Given the description of an element on the screen output the (x, y) to click on. 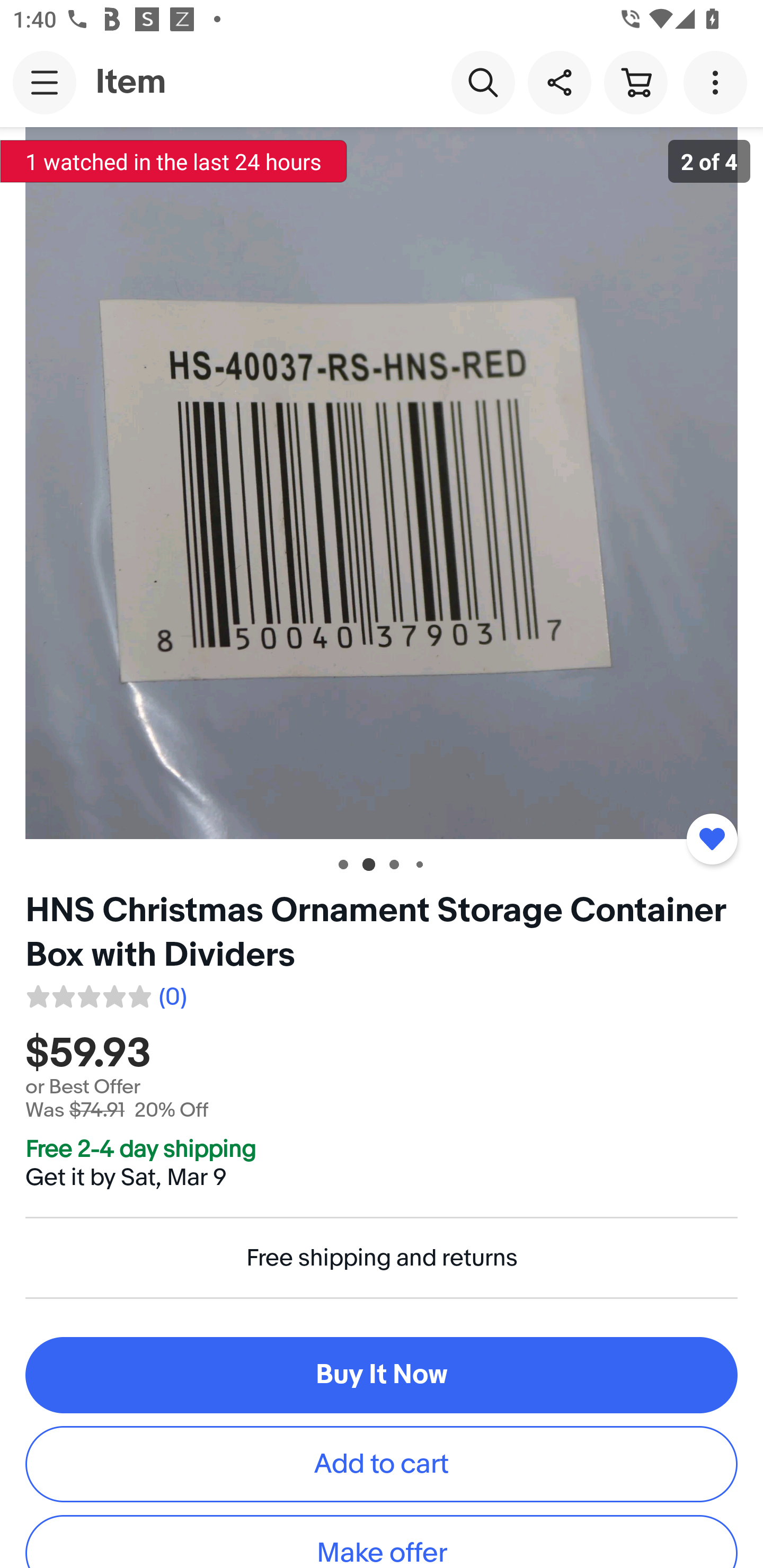
Main navigation, open (44, 82)
Search (482, 81)
Share this item (559, 81)
Cart button shopping cart (635, 81)
More options (718, 81)
Item image 2 of 4 (381, 482)
1 watched in the last 24 hours (173, 161)
Added to watchlist (711, 838)
0 reviews. Average rating 0.0 out of five 0.0 (0) (105, 993)
Buy It Now (381, 1374)
Add to cart (381, 1463)
Make offer (381, 1541)
